Given the description of an element on the screen output the (x, y) to click on. 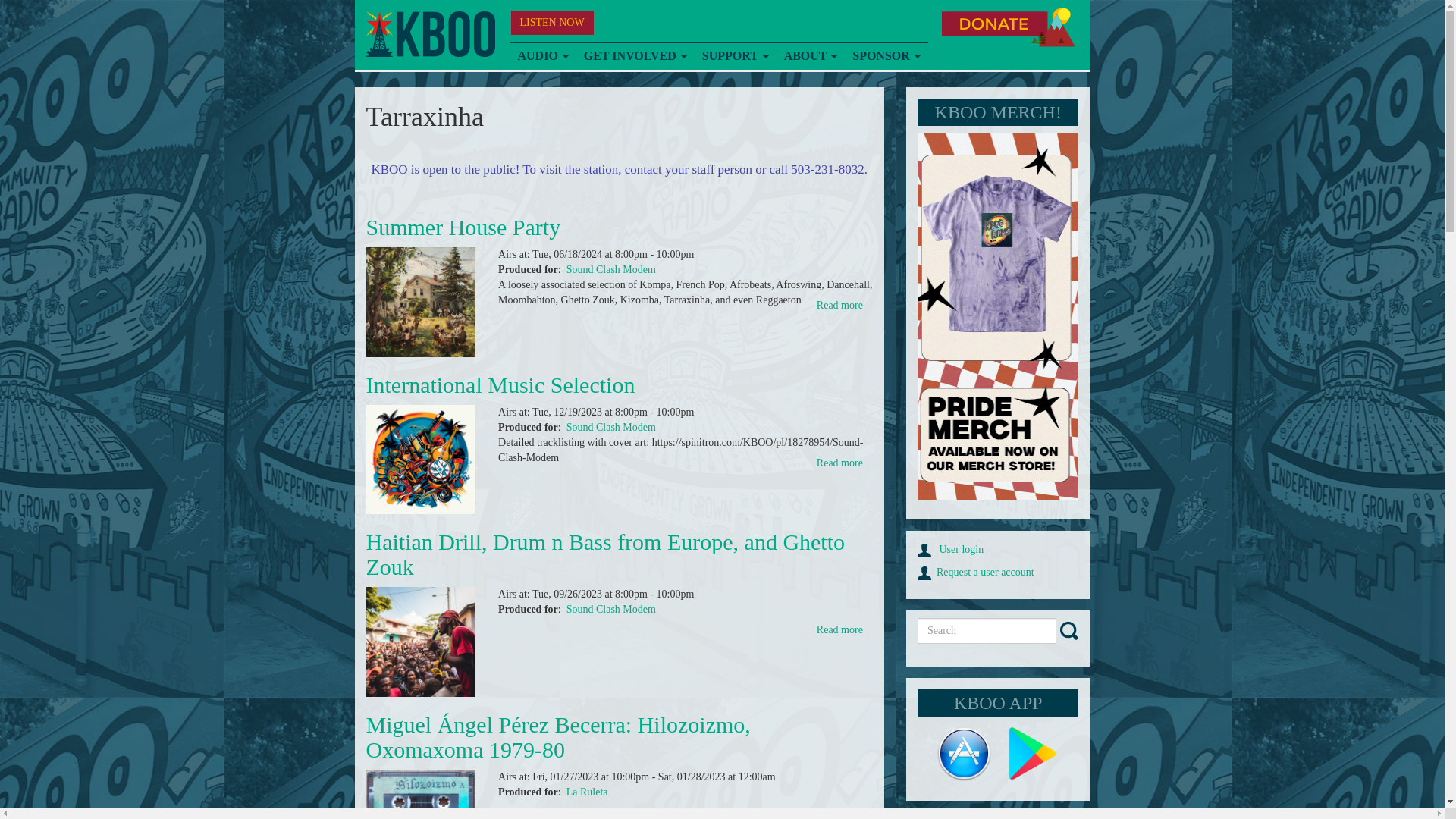
AUDIO (542, 55)
LISTEN NOW (551, 22)
SPONSOR (886, 55)
Home (430, 34)
GET INVOLVED (635, 55)
ABOUT (810, 55)
SUPPORT (735, 55)
